Given the description of an element on the screen output the (x, y) to click on. 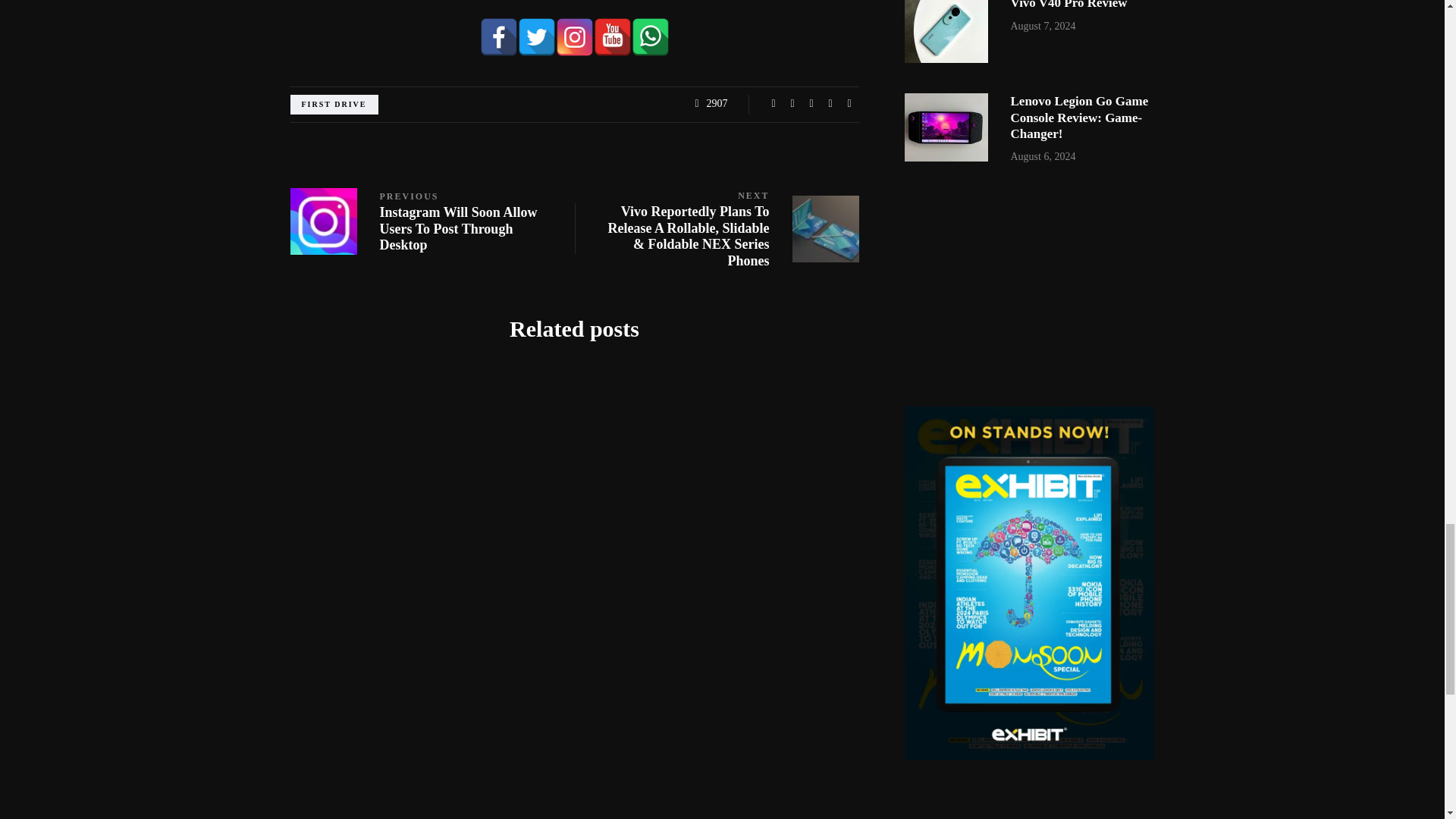
YouTube (611, 37)
Share with Facebook (773, 103)
Instagram (573, 37)
WhatsApp (649, 37)
Tweet this (792, 103)
Facebook (497, 37)
Twitter (535, 37)
Share with LinkedIn (811, 103)
